Given the description of an element on the screen output the (x, y) to click on. 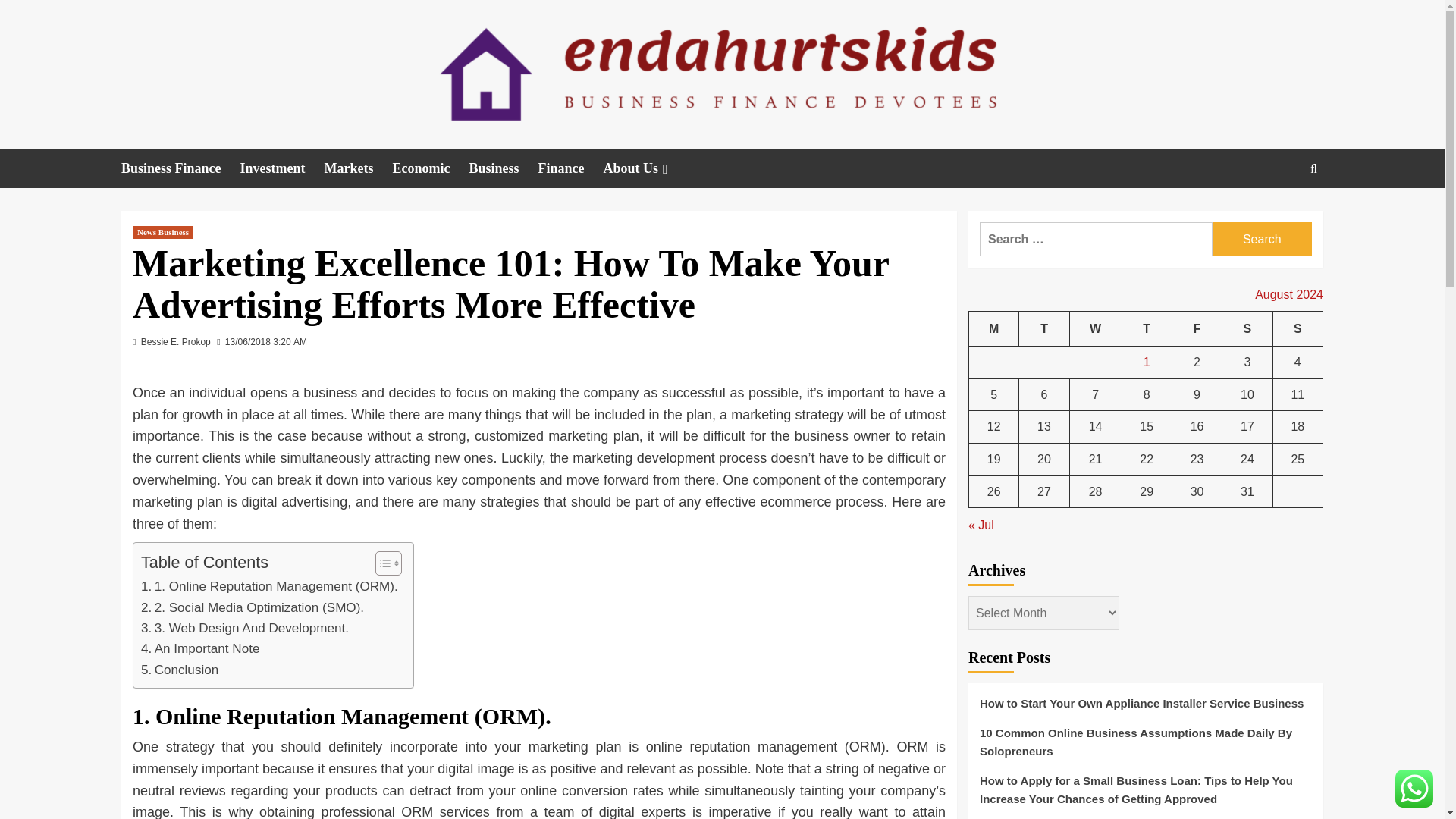
Saturday (1247, 328)
An Important Note (200, 648)
Search (1278, 215)
Markets (358, 168)
3. Web Design And Development. (245, 628)
Friday (1196, 328)
Bessie E. Prokop (176, 341)
An Important Note (200, 648)
Thursday (1146, 328)
Business (503, 168)
Finance (571, 168)
Monday (994, 328)
Wednesday (1094, 328)
Business Finance (180, 168)
Sunday (1297, 328)
